Given the description of an element on the screen output the (x, y) to click on. 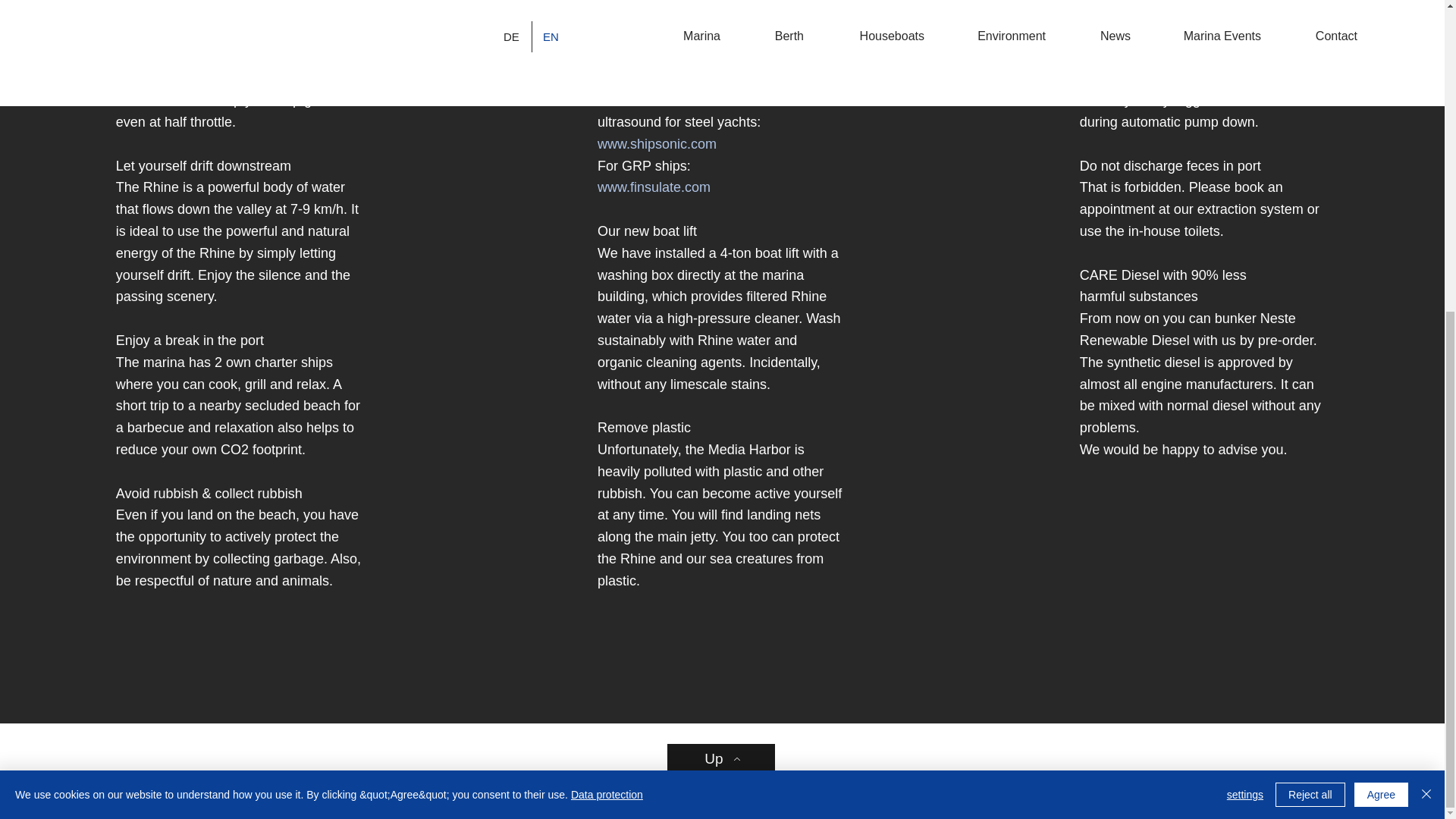
Agree (1380, 299)
Data protection (606, 299)
Up (720, 758)
Reject all (1310, 299)
www.finsulate.com (653, 186)
www.shipsonic.com (656, 143)
